Given the description of an element on the screen output the (x, y) to click on. 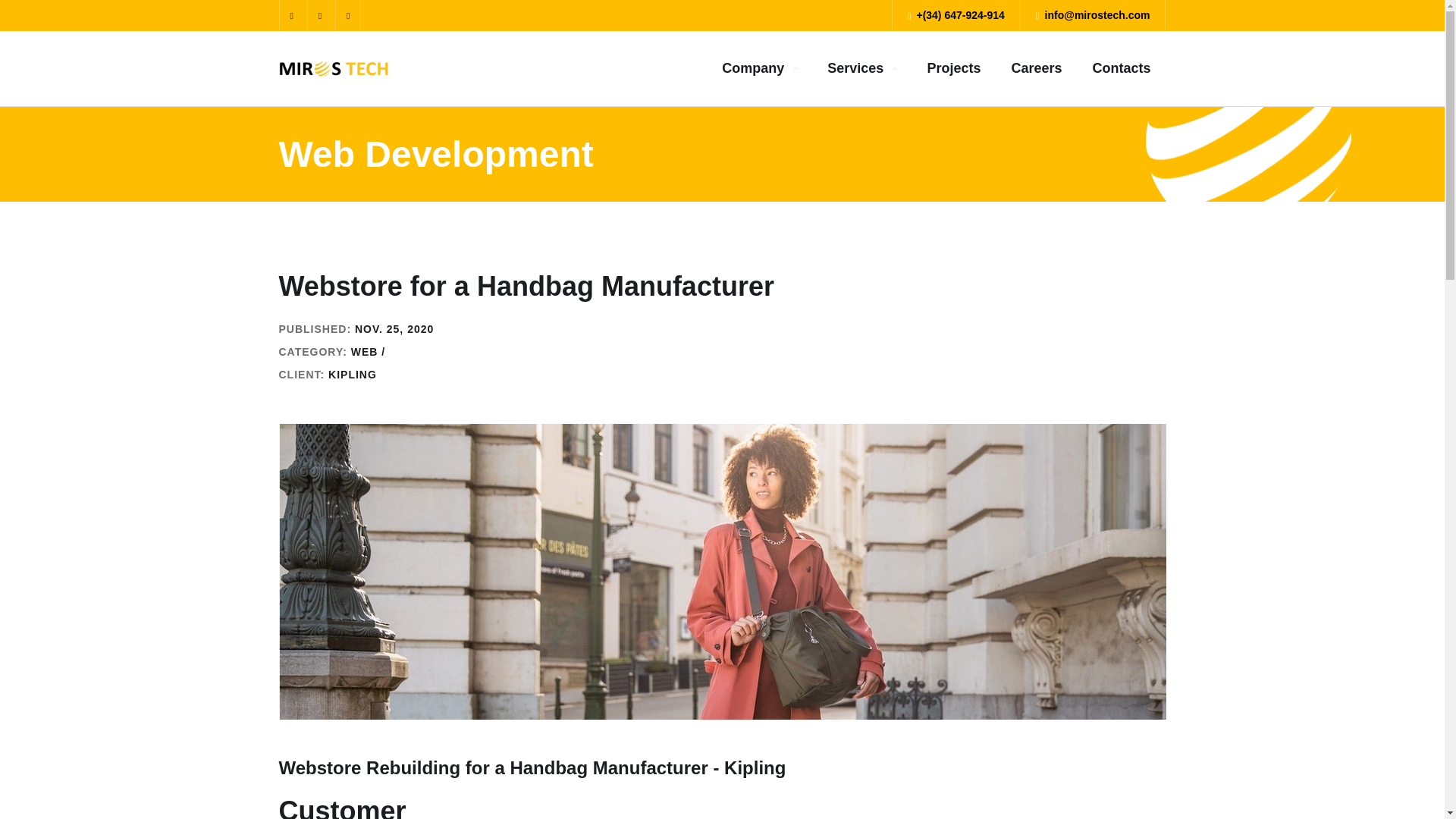
Company (759, 68)
Services (861, 68)
